Given the description of an element on the screen output the (x, y) to click on. 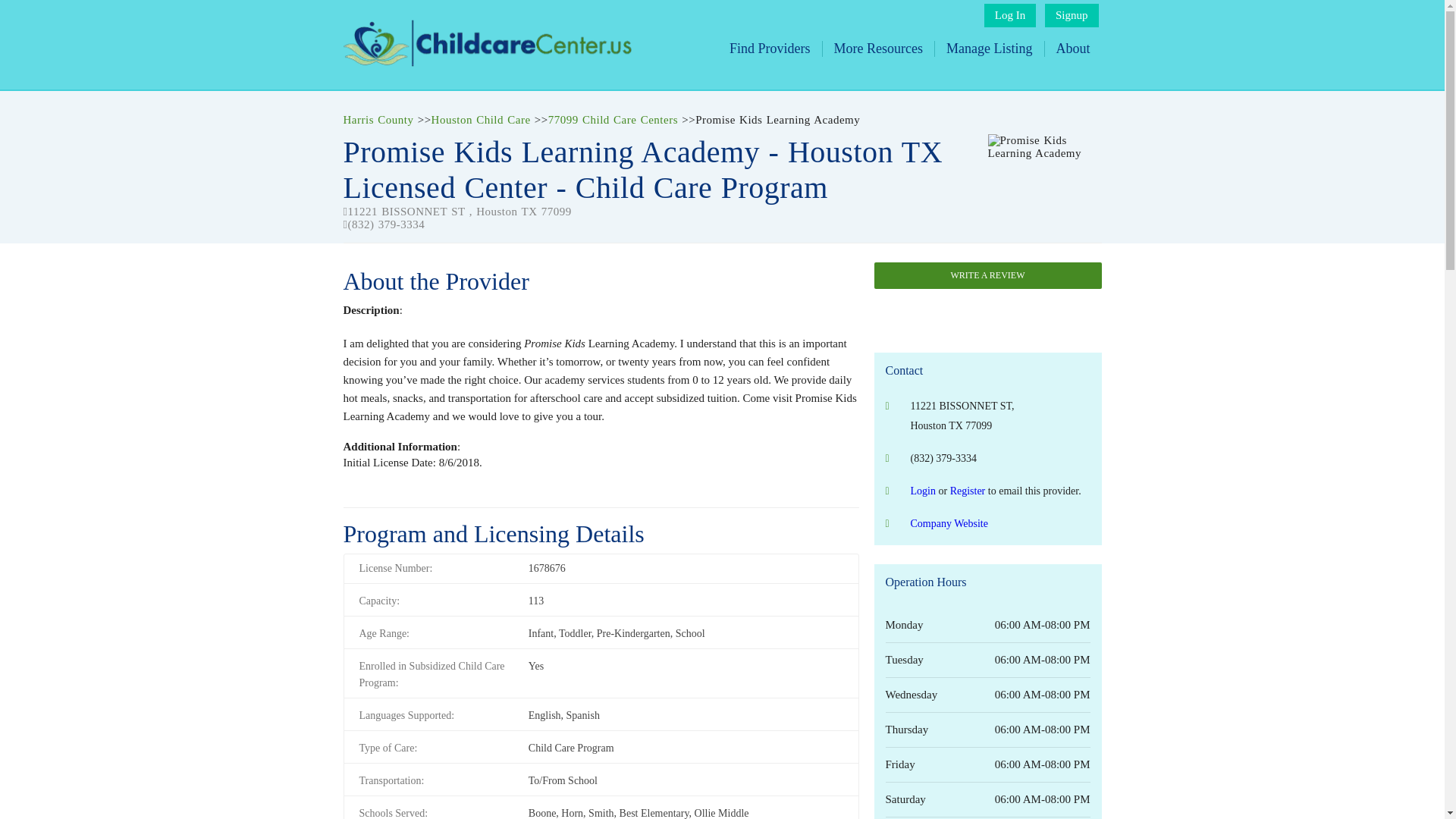
Find Providers (769, 48)
Login (922, 490)
WRITE A REVIEW (986, 275)
More Resources (878, 48)
Manage Listing (989, 48)
Harris County (377, 119)
Register (967, 490)
77099 Child Care Centers (613, 119)
Log In (1009, 15)
Company Website (948, 523)
